Given the description of an element on the screen output the (x, y) to click on. 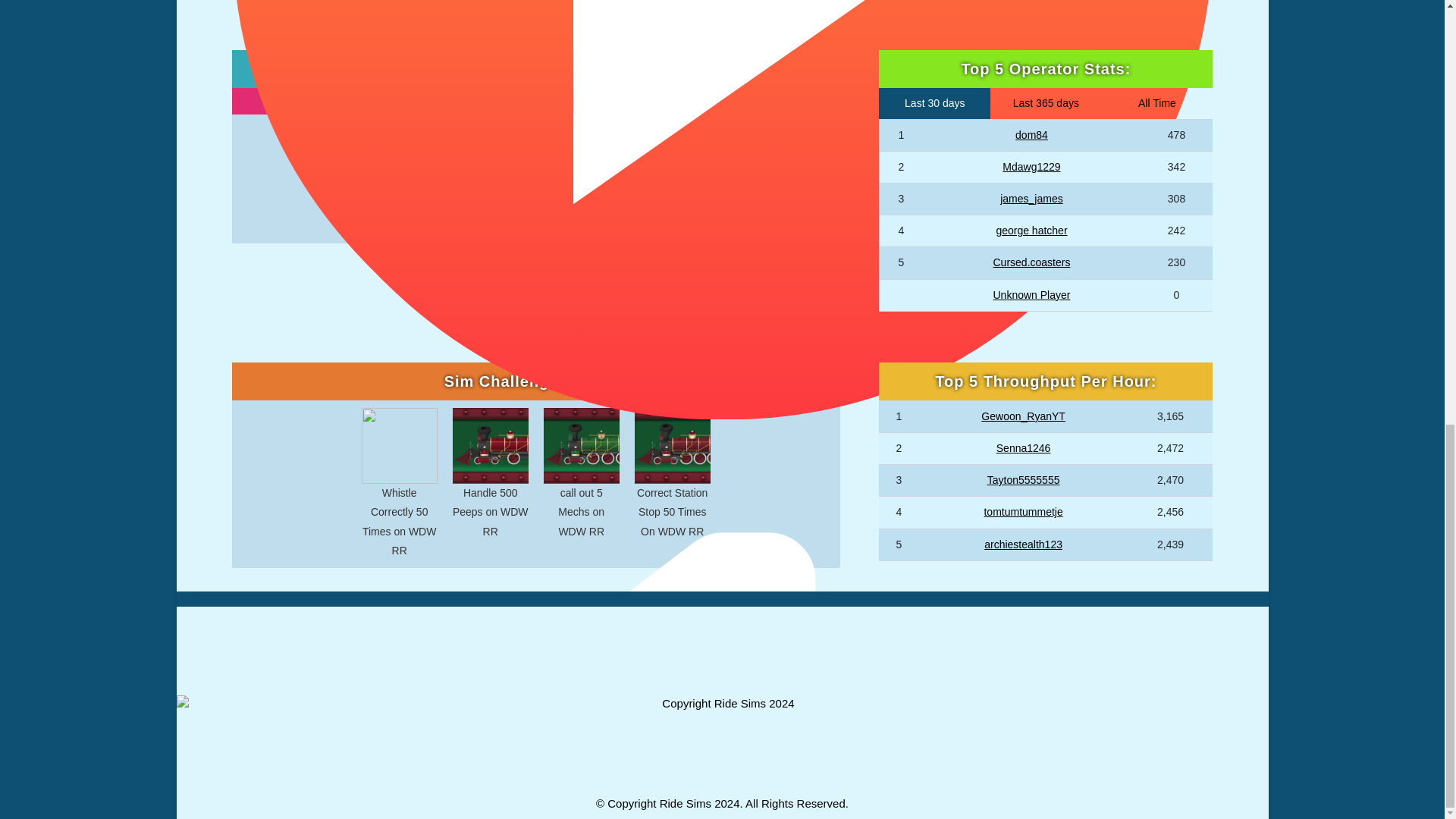
Cursed.coasters (1031, 262)
tomtumtummetje (1023, 511)
george hatcher (1031, 230)
Tayton5555555 (1023, 480)
Mdawg1229 (1031, 166)
archiestealth123 (1023, 544)
Senna1246 (1023, 448)
dom84 (1031, 134)
Unknown Player (1031, 295)
